Given the description of an element on the screen output the (x, y) to click on. 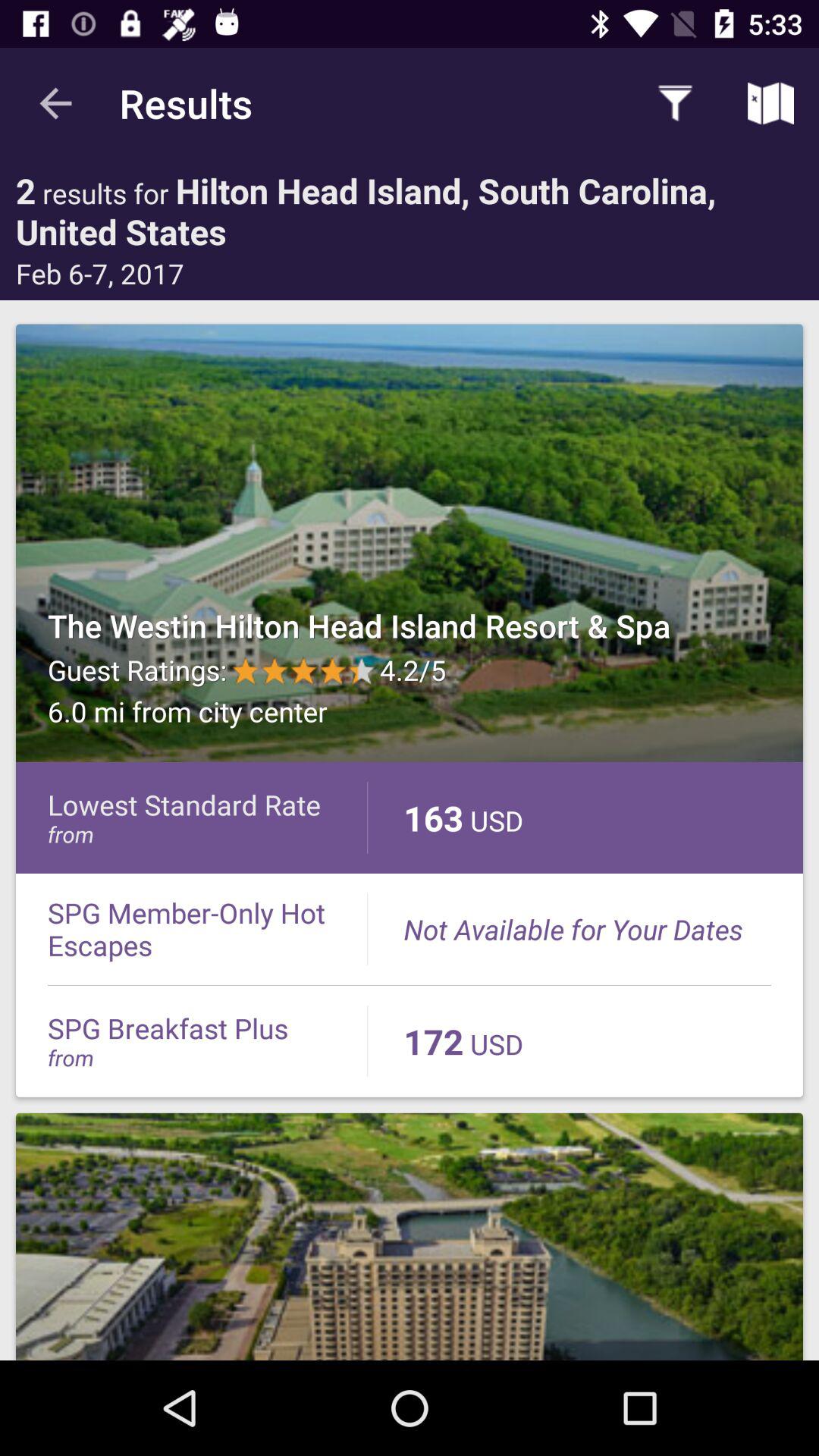
auto play option (409, 1236)
